Given the description of an element on the screen output the (x, y) to click on. 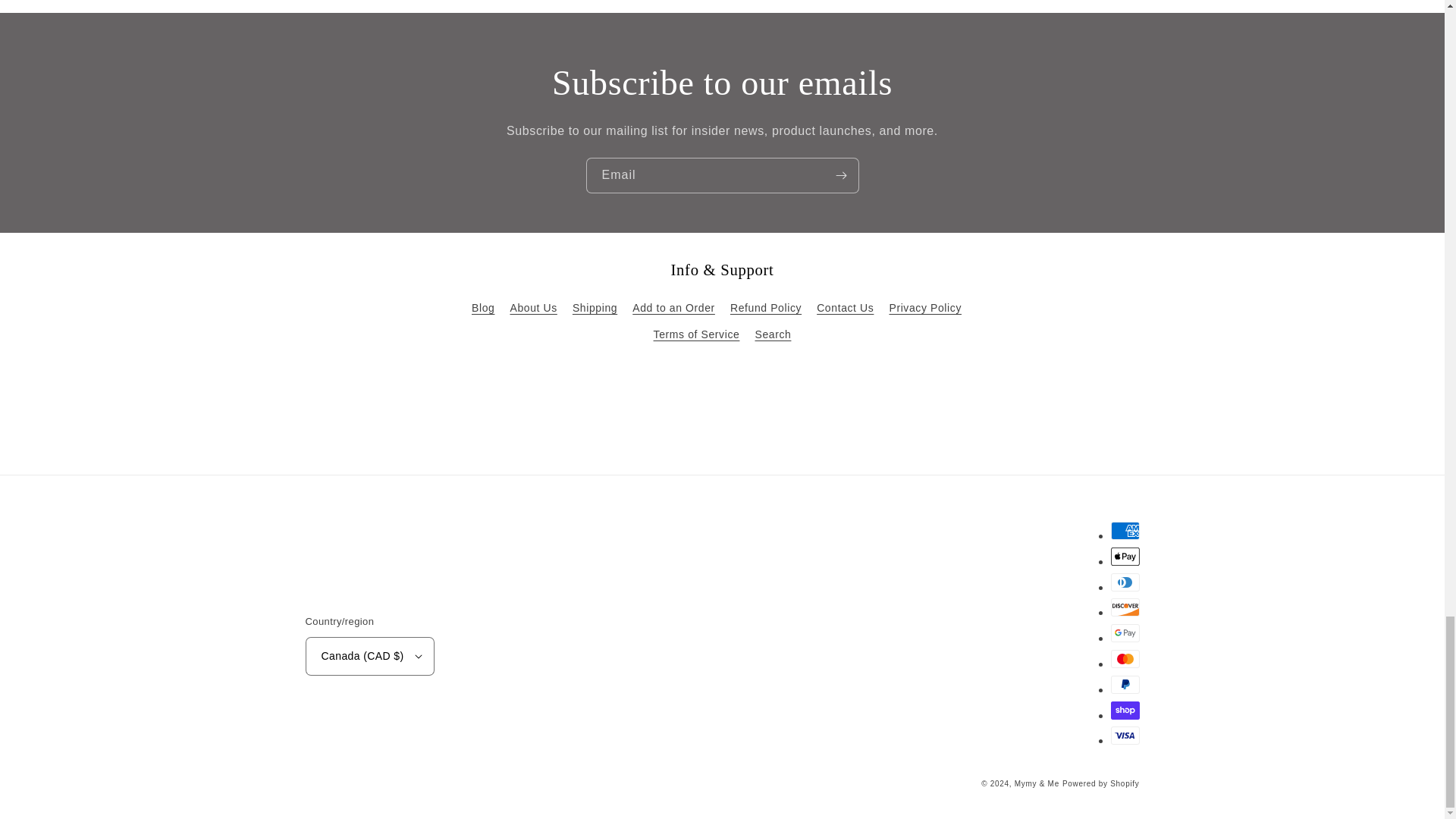
American Express (1123, 530)
Diners Club (1123, 582)
Discover (1123, 607)
Apple Pay (1123, 556)
